Given the description of an element on the screen output the (x, y) to click on. 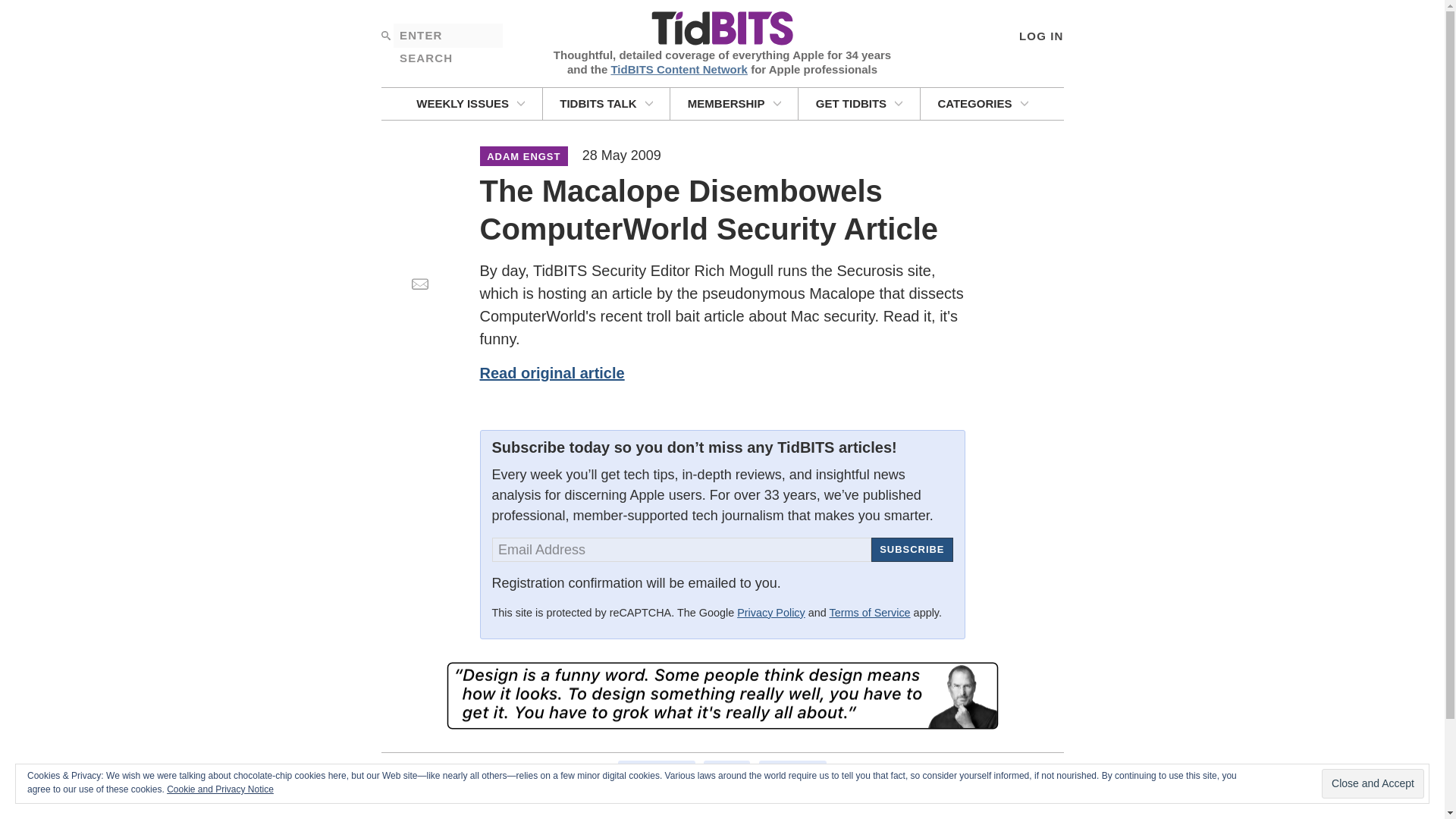
Close and Accept (1372, 783)
TIDBITS TALK (606, 103)
Search (385, 35)
GET TIDBITS (858, 103)
Click to email a link to a friend (419, 284)
TidBITS (721, 28)
CATEGORIES (982, 103)
WEEKLY ISSUES (469, 103)
MEMBERSHIP (733, 103)
LOG IN (1040, 34)
TidBITS Content Network (679, 68)
